Given the description of an element on the screen output the (x, y) to click on. 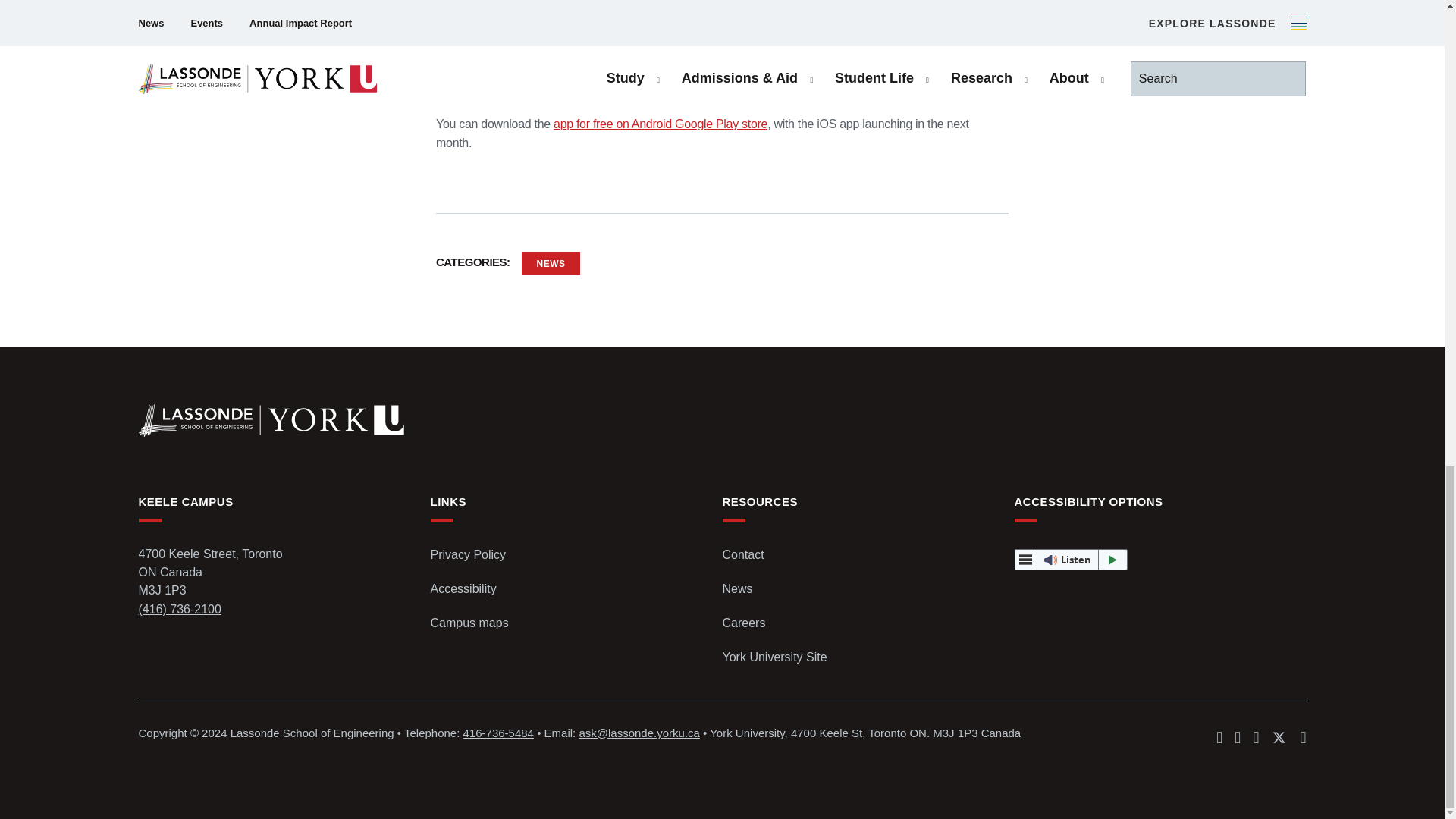
webReader menu (1025, 559)
Listen to this page using ReadSpeaker webReader (1071, 559)
